Given the description of an element on the screen output the (x, y) to click on. 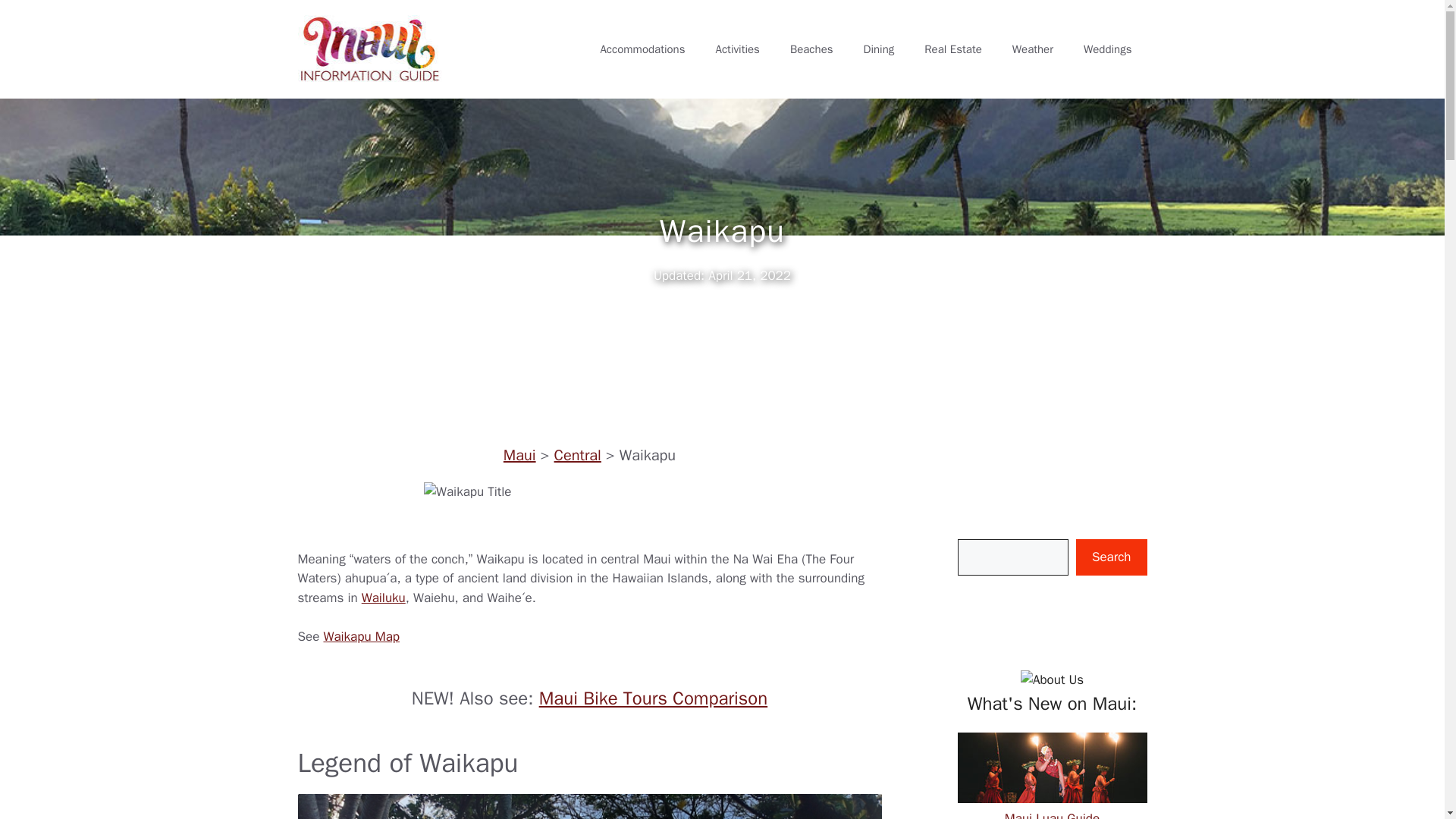
Maui Luau Guide (1051, 805)
Weddings (1107, 49)
Activities (737, 49)
Beaches (811, 49)
Weather (1032, 49)
Real Estate (951, 49)
Dining (879, 49)
Accommodations (642, 49)
Search (1111, 556)
Wailuku (383, 597)
Maui Bike Tours Comparison (653, 698)
Maui (519, 455)
Waikapu Map (360, 636)
Central (577, 455)
Waikapu (589, 505)
